Given the description of an element on the screen output the (x, y) to click on. 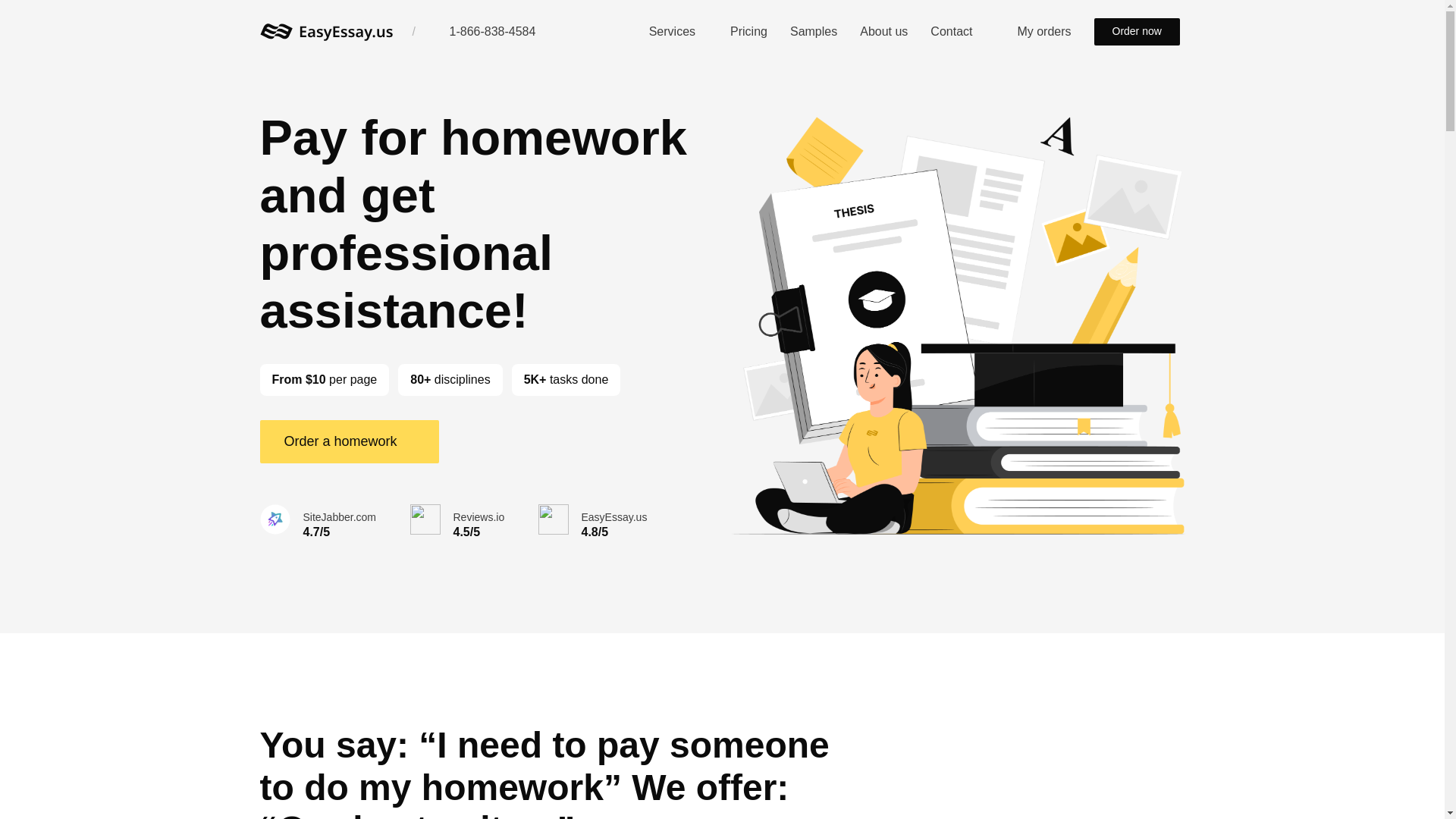
1-866-838-4584 (483, 31)
Order a homework (348, 441)
Samples (813, 31)
Pricing (748, 31)
My orders (1032, 31)
About us (883, 31)
Order now (1136, 31)
Contact (951, 31)
